Given the description of an element on the screen output the (x, y) to click on. 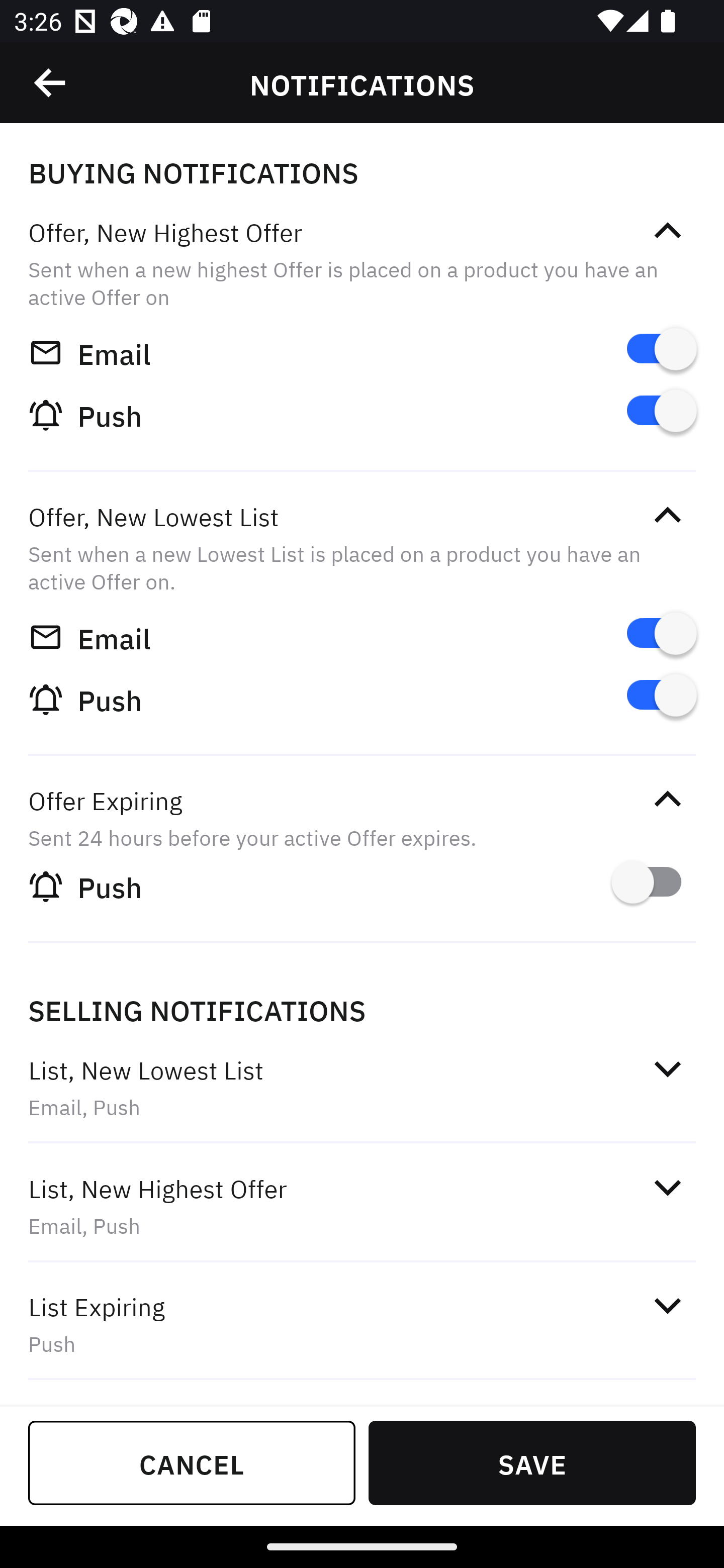
 (50, 83)
 (667, 231)
 (667, 514)
 (667, 799)
List, New Lowest List  Email, Push (361, 1087)
 (667, 1068)
List, New Highest Offer  Email, Push (361, 1206)
 (667, 1187)
List Expiring  Push (361, 1323)
 (667, 1305)
CANCEL (191, 1462)
SAVE (531, 1462)
